Given the description of an element on the screen output the (x, y) to click on. 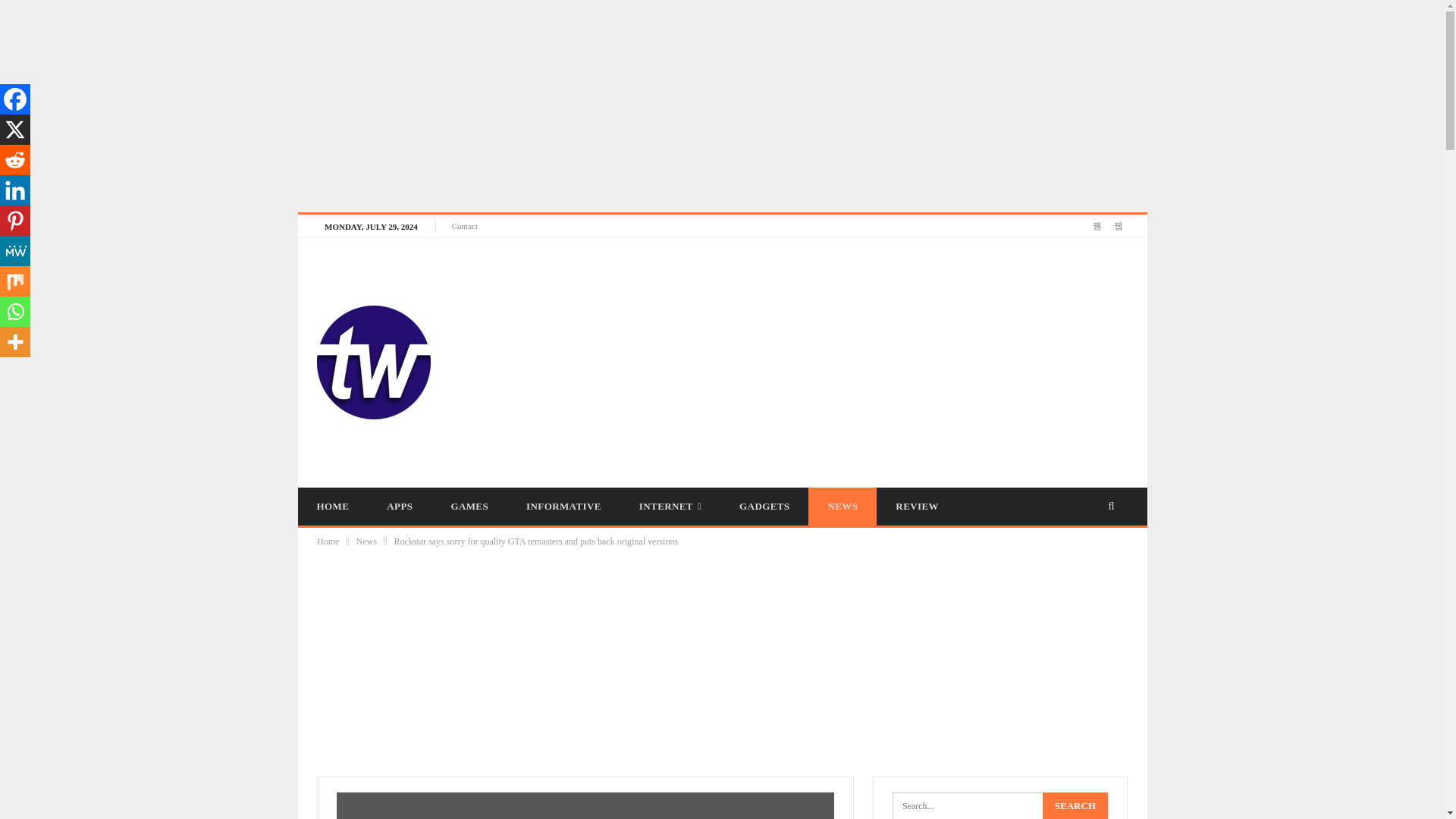
REVIEW (917, 506)
Linkedin (15, 190)
Search (1075, 805)
APPS (399, 506)
GAMES (468, 506)
Home (328, 541)
Search (1075, 805)
INFORMATIVE (563, 506)
TOP LISTS (490, 544)
News (366, 541)
Contact (464, 225)
NEWS (842, 506)
Facebook (15, 99)
INTERNET (670, 506)
